Given the description of an element on the screen output the (x, y) to click on. 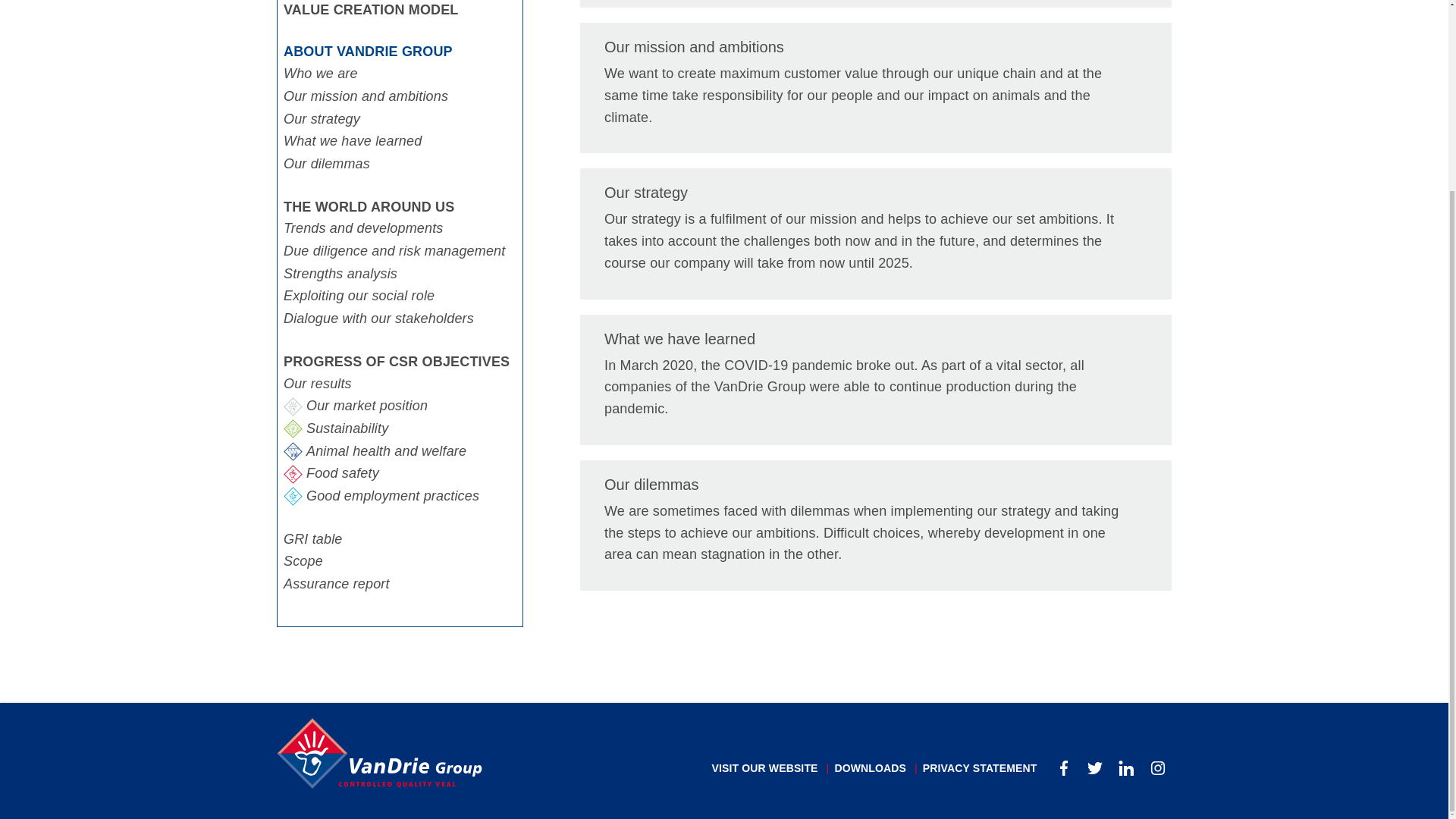
Animal health and welfare (399, 451)
GRI table (399, 539)
VALUE CREATION MODEL (399, 10)
Sustainability (399, 428)
PROGRESS OF CSR OBJECTIVES (399, 362)
Our market position (399, 405)
Assurance report (399, 584)
Our dilemmas (399, 164)
Our mission and ambitions (875, 87)
ABOUT VANDRIE GROUP (399, 51)
